Given the description of an element on the screen output the (x, y) to click on. 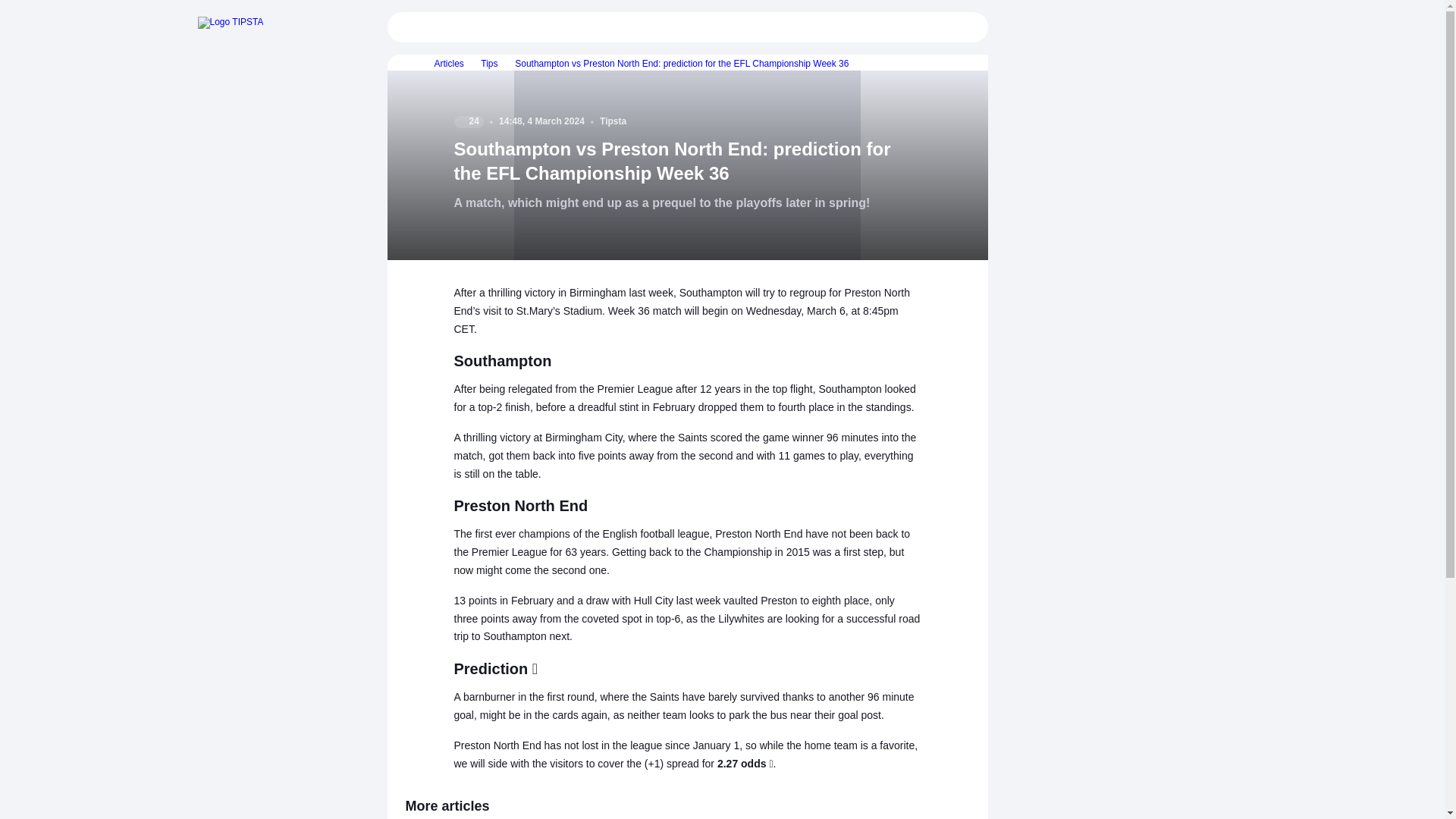
Articles (442, 63)
Tips (482, 63)
